Given the description of an element on the screen output the (x, y) to click on. 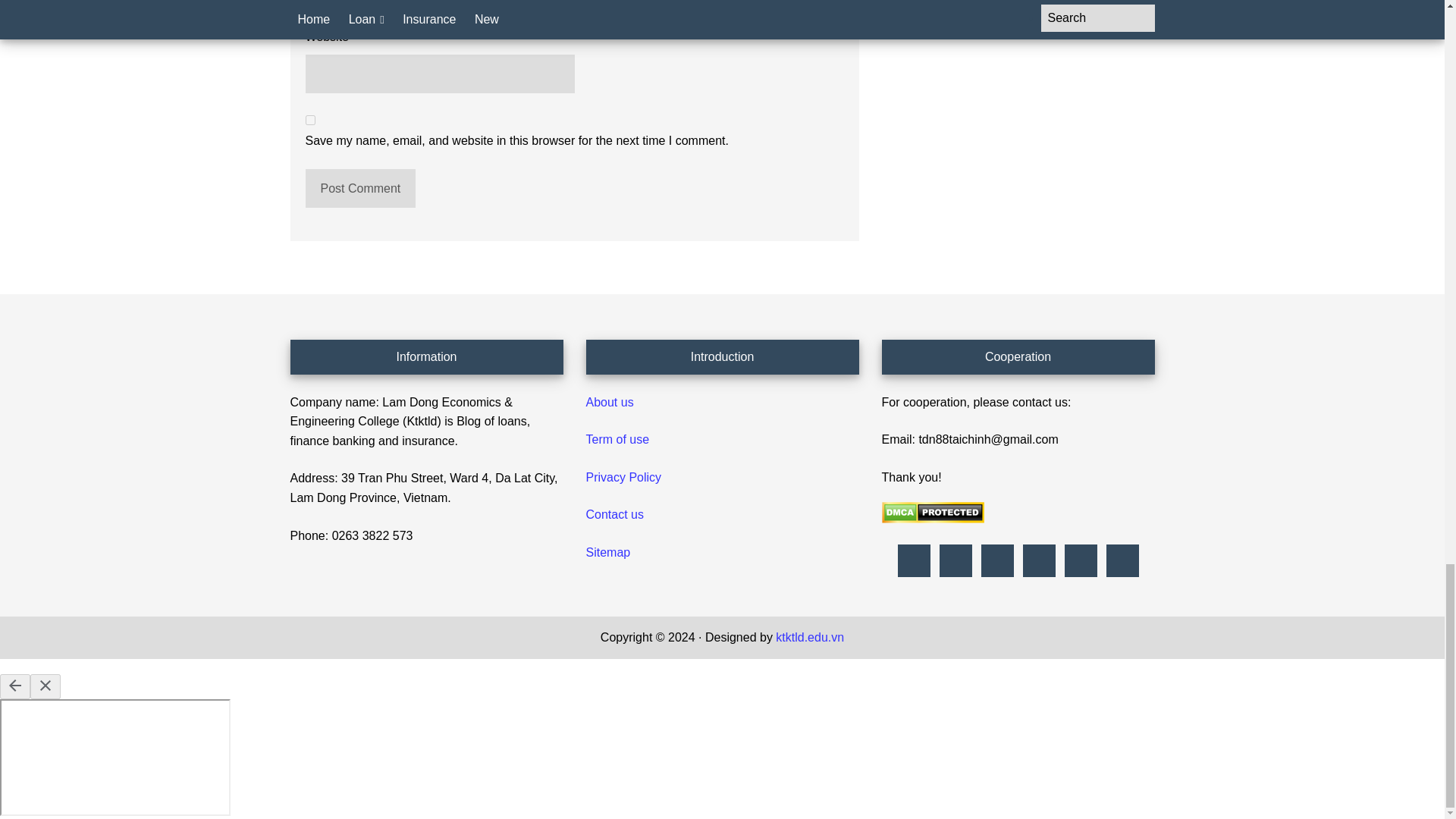
Reddit (996, 560)
Post Comment (359, 188)
yes (309, 120)
Twitter (1079, 560)
Tumblr (1038, 560)
Pinterest (955, 560)
Flickr (913, 560)
YouTube (1123, 560)
DMCA.com Protection Status (932, 518)
Post Comment (359, 188)
